Given the description of an element on the screen output the (x, y) to click on. 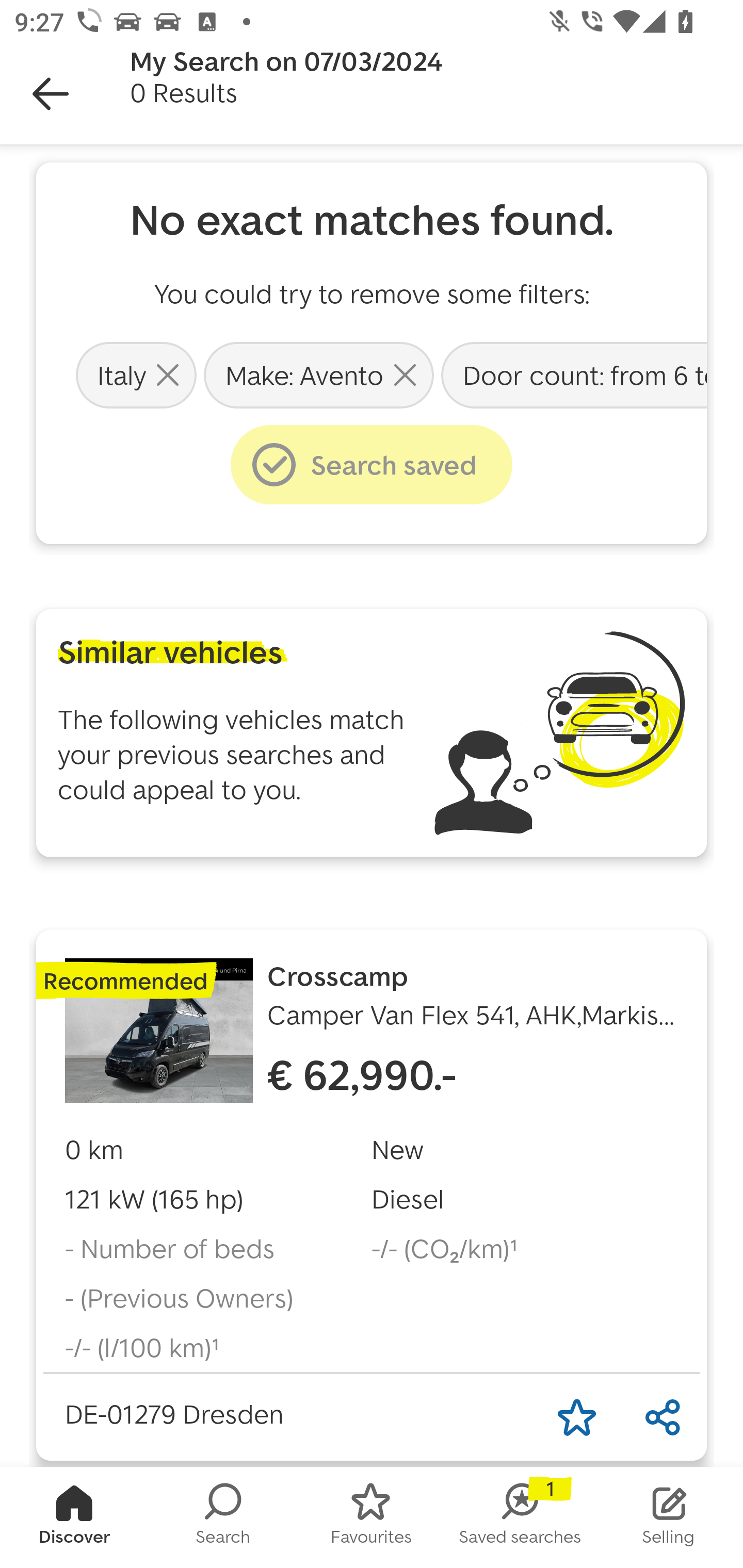
Navigate up (50, 93)
Italy (135, 374)
Make: Avento (318, 374)
Door count: from 6 to 7 (571, 374)
Search saved (371, 464)
HOMESCREEN Discover (74, 1517)
SEARCH Search (222, 1517)
FAVORITES Favourites (371, 1517)
SAVED_SEARCHES Saved searches 1 (519, 1517)
STOCK_LIST Selling (668, 1517)
